Given the description of an element on the screen output the (x, y) to click on. 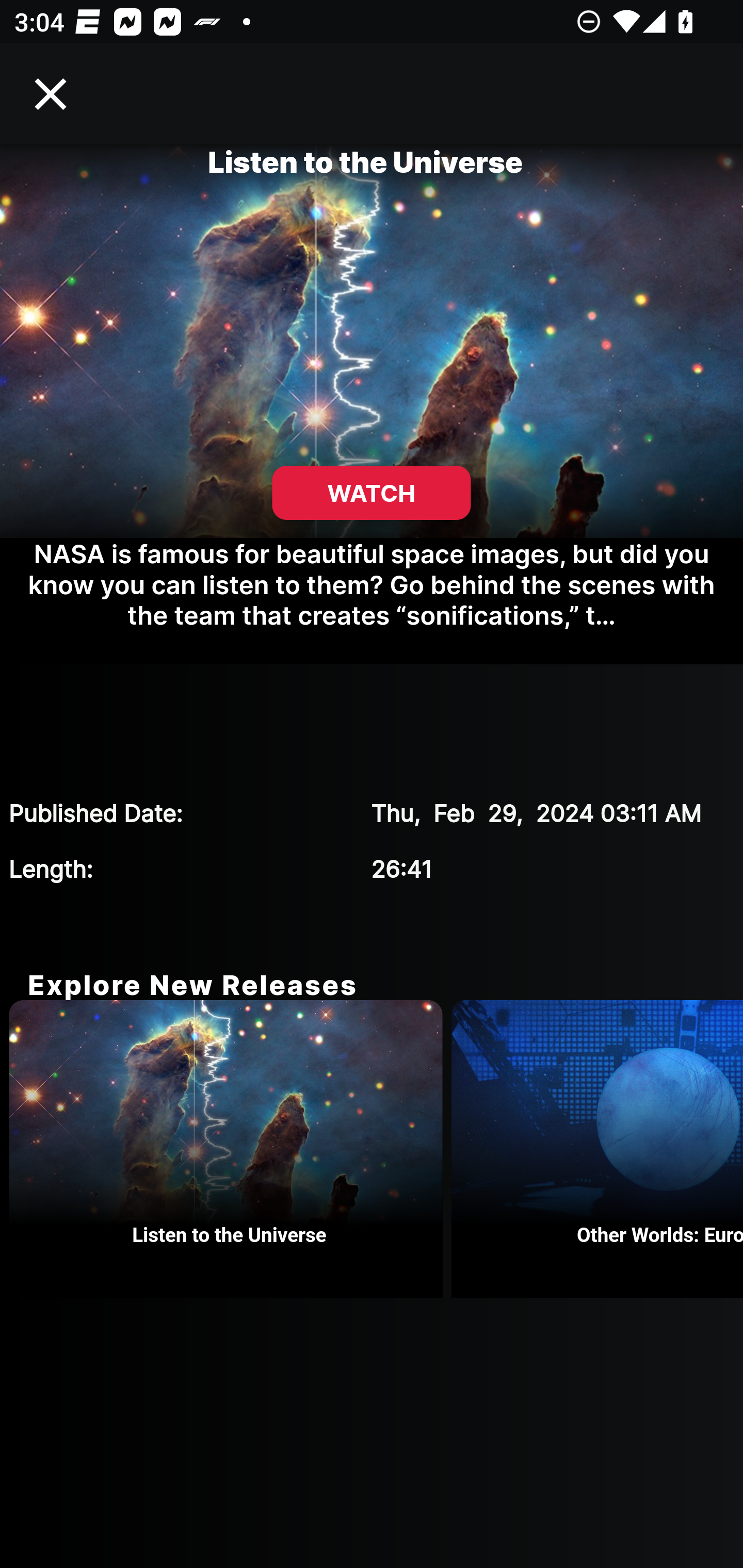
WATCH (371, 492)
Listen to the Universe (229, 1149)
Other Worlds: Europa (597, 1149)
